Given the description of an element on the screen output the (x, y) to click on. 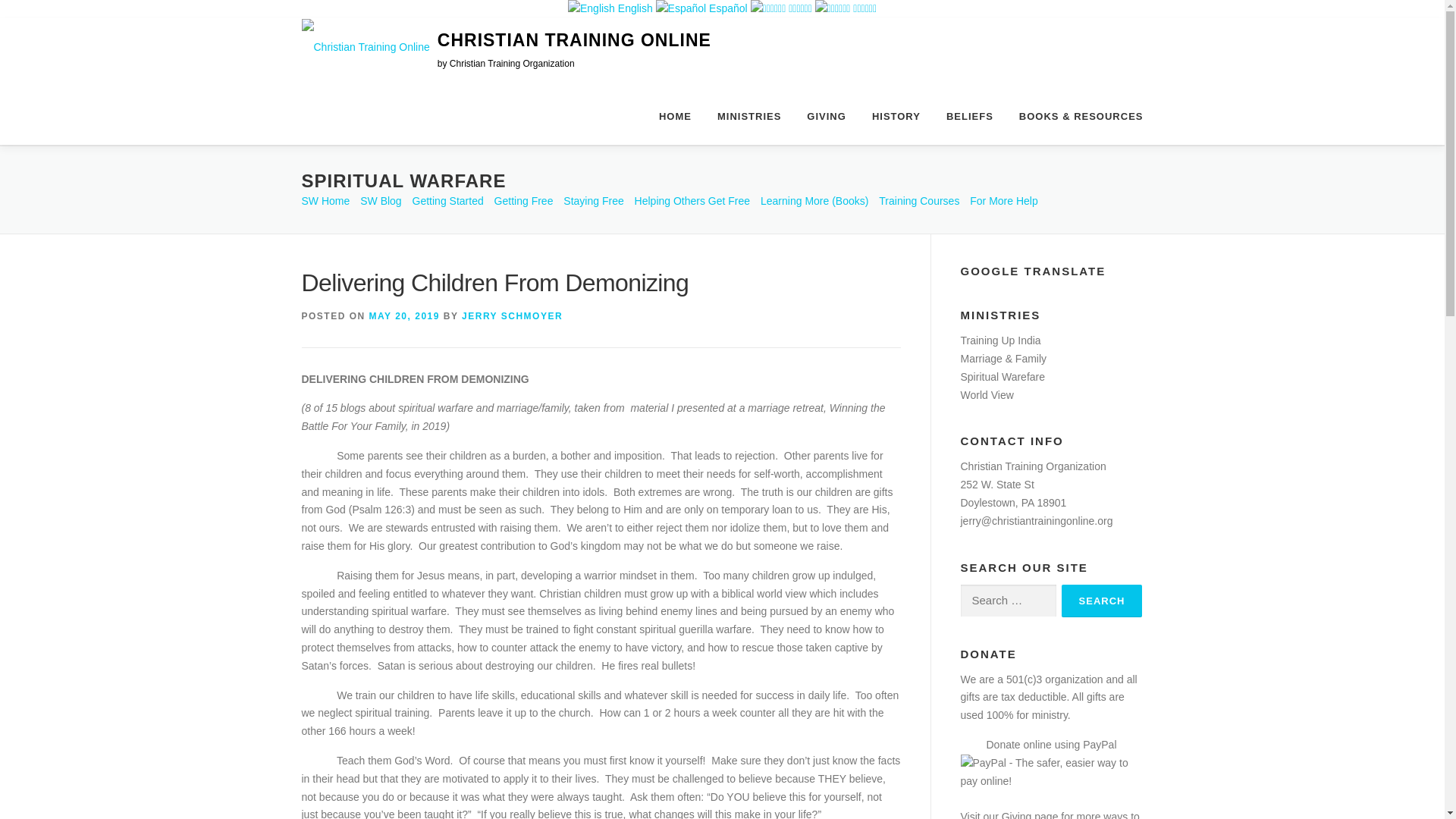
Giving (1016, 814)
Training Courses (919, 200)
JERRY SCHMOYER (511, 316)
GIVING (826, 112)
Search (1101, 600)
Spiritual Warefare (1002, 377)
Helping Others Get Free (692, 200)
Getting Free (524, 200)
Search (1101, 600)
MINISTRIES (748, 112)
For More Help (1002, 200)
HOME (675, 112)
Training Up India (1000, 340)
BELIEFS (969, 112)
SW Blog (380, 200)
